Given the description of an element on the screen output the (x, y) to click on. 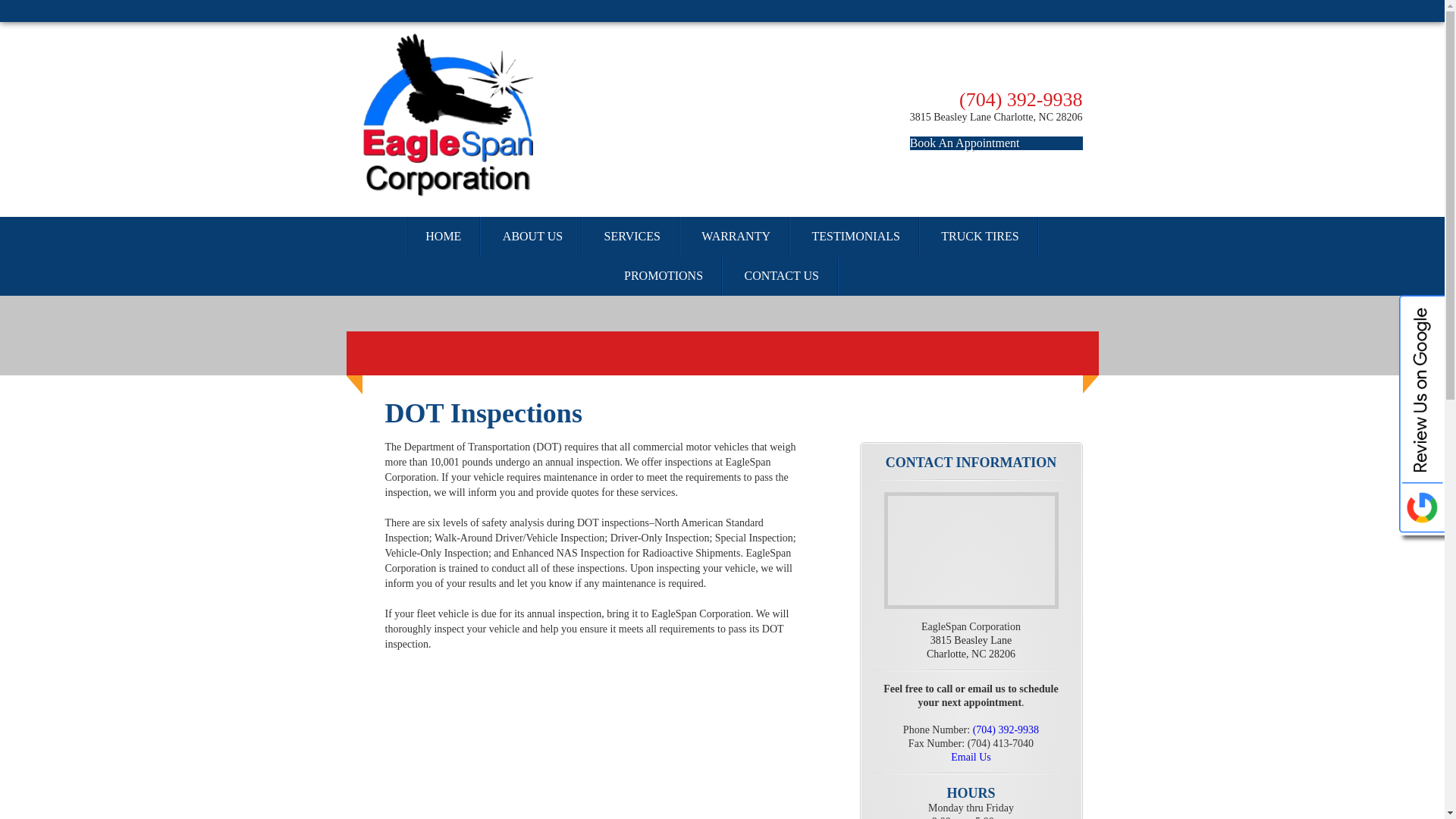
TESTIMONIALS (855, 236)
ABOUT US (532, 236)
SERVICES (632, 236)
Book An Appointment (996, 142)
PROMOTIONS (663, 275)
3815 Beasley Lane Charlotte, NC 28206 (996, 116)
HOME (443, 236)
CONTACT US (782, 275)
WARRANTY (735, 236)
Email Us (970, 756)
TRUCK TIRES (970, 652)
